Given the description of an element on the screen output the (x, y) to click on. 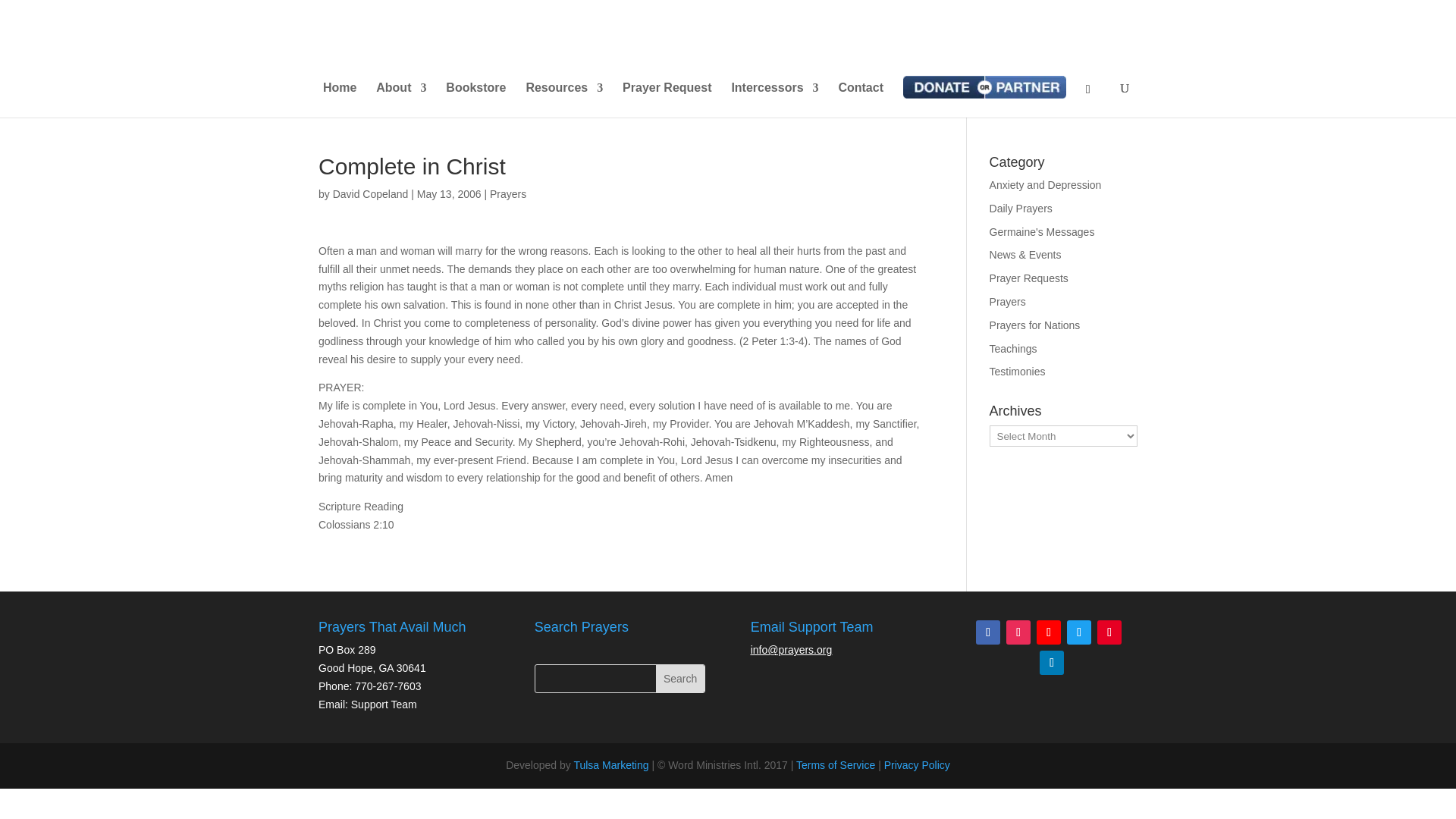
Search (680, 678)
Follow on X (1078, 631)
Search (680, 678)
Tulsa Marketing (610, 765)
David Copeland (371, 193)
About (400, 99)
Terms of Service (835, 765)
Prayer Request (667, 99)
Follow on LinkedIn (1051, 662)
Germaine's Messages (1042, 232)
